Given the description of an element on the screen output the (x, y) to click on. 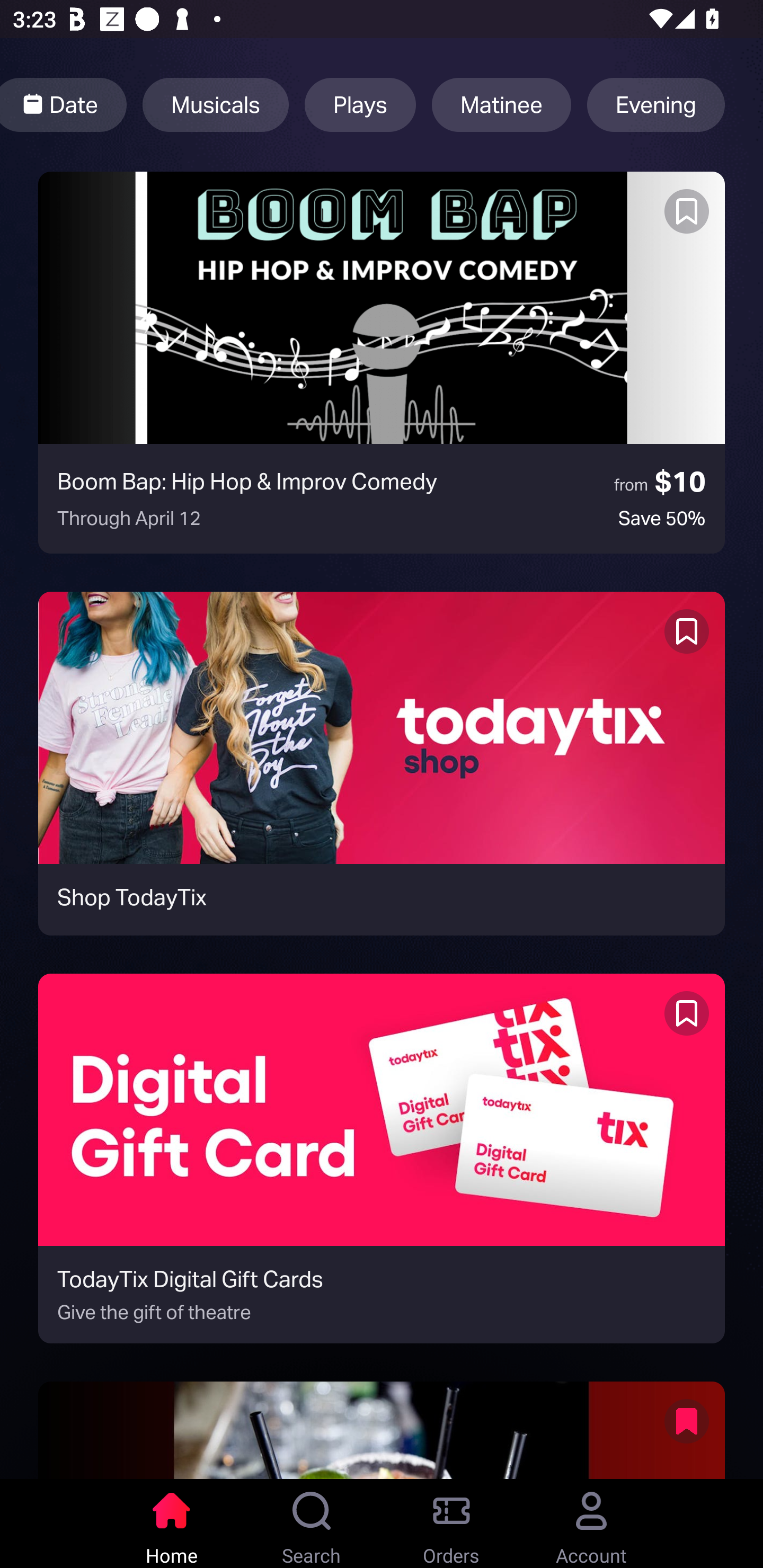
Date (63, 104)
Musicals (215, 104)
Plays (359, 104)
Matinee (501, 104)
Evening (655, 104)
Shop TodayTix (381, 763)
Search (311, 1523)
Orders (451, 1523)
Account (591, 1523)
